Given the description of an element on the screen output the (x, y) to click on. 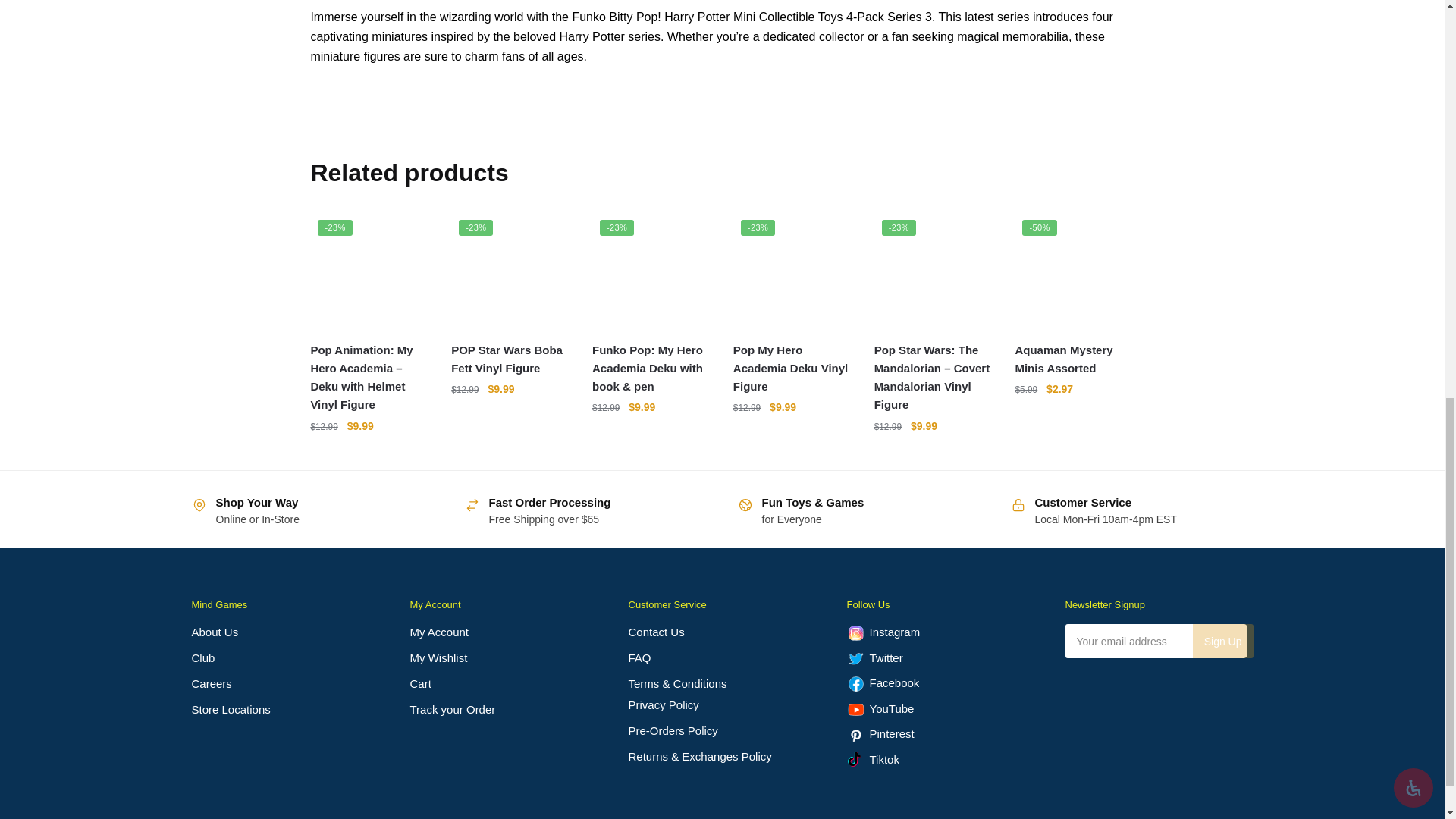
POP Star Wars Boba Fett Vinyl Figure (510, 271)
Sign up (1222, 641)
Pop My Hero Academia Deku Vinyl Figure (792, 271)
